Given the description of an element on the screen output the (x, y) to click on. 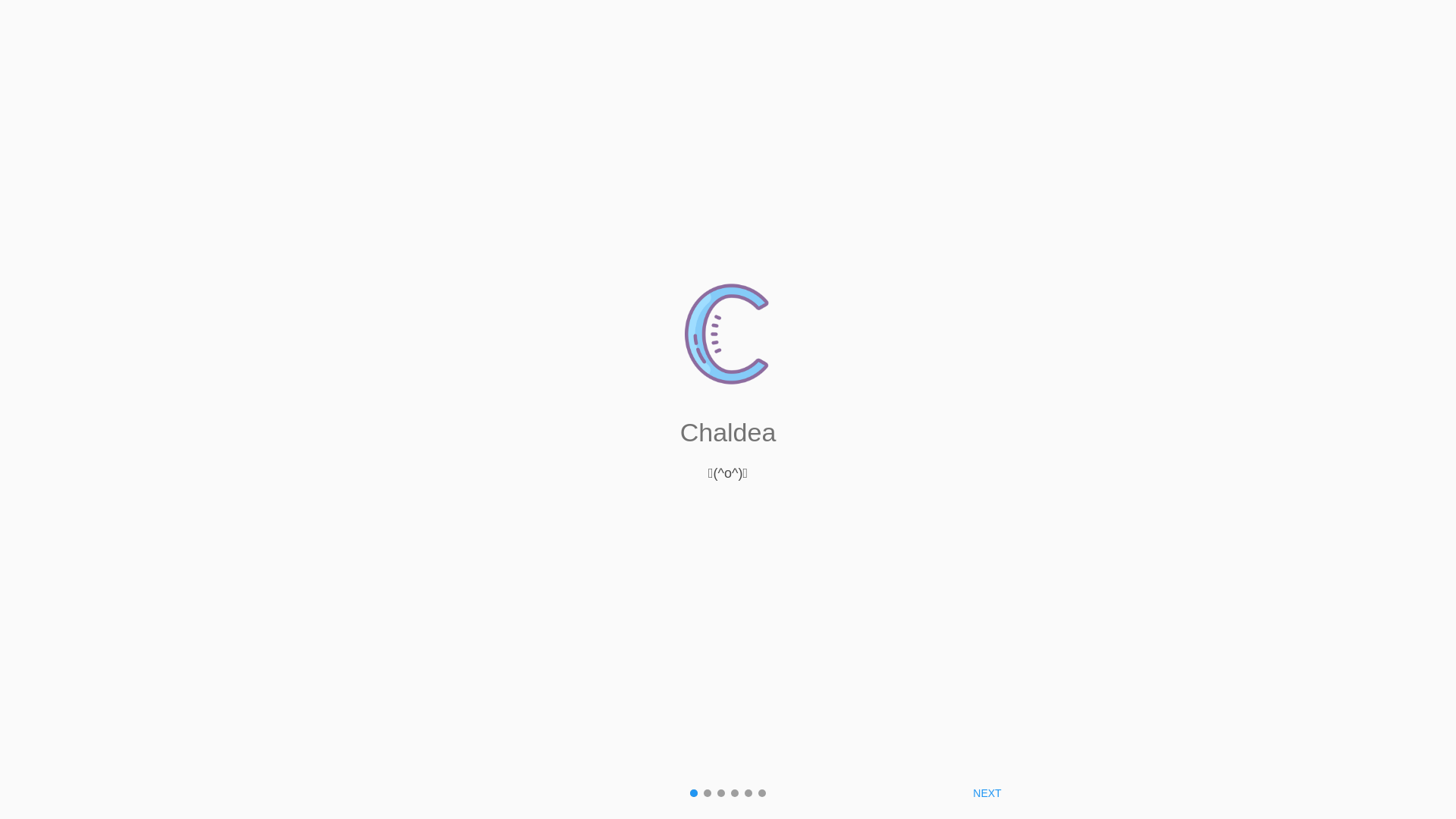
Visit Document Site Element type: text (727, 555)
